Given the description of an element on the screen output the (x, y) to click on. 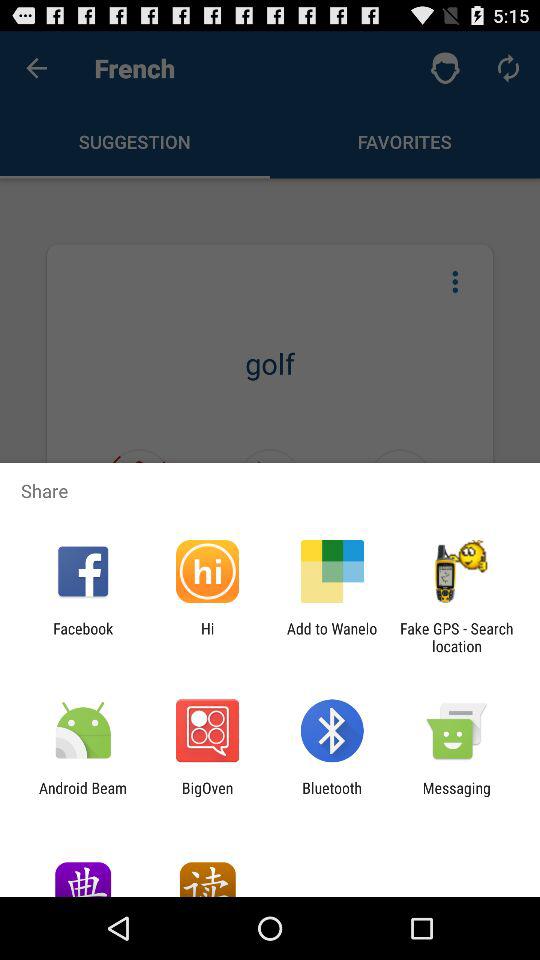
launch bluetooth (331, 796)
